Given the description of an element on the screen output the (x, y) to click on. 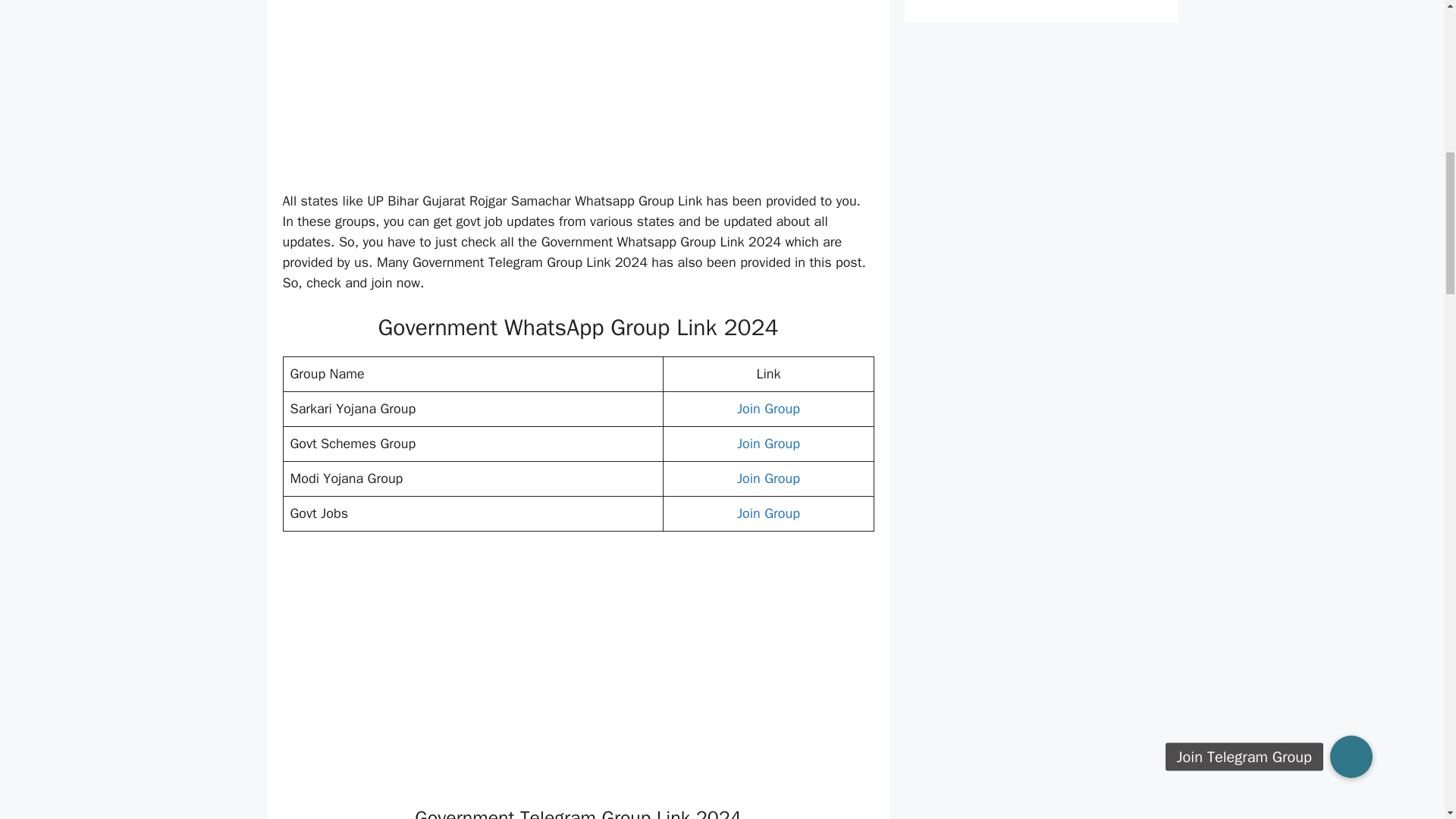
Join Group (767, 443)
Join Group (767, 513)
Scroll back to top (1406, 720)
Join Group (767, 478)
Join Group (767, 408)
